Given the description of an element on the screen output the (x, y) to click on. 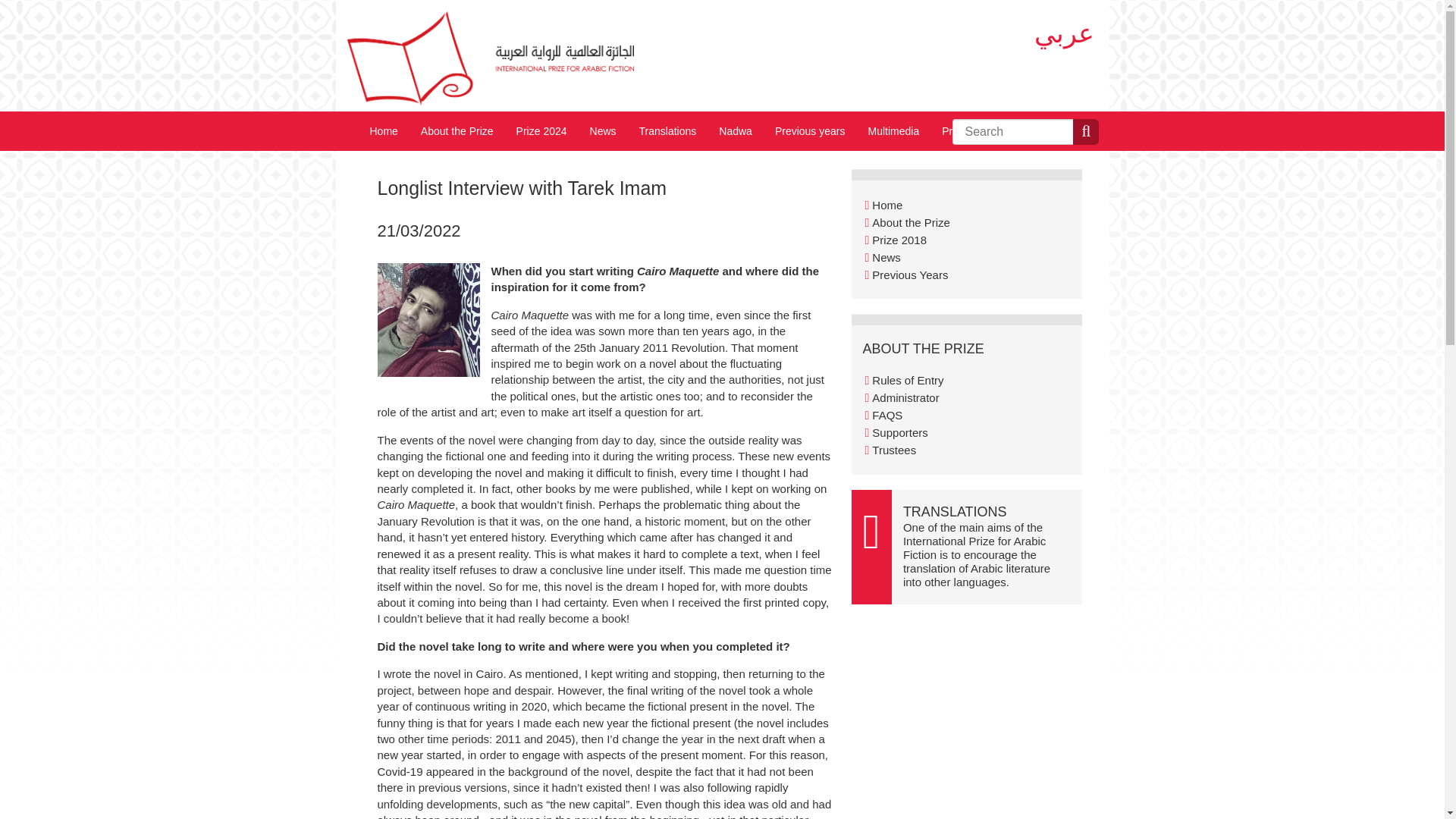
Previous Years (909, 274)
News (602, 130)
Previous years (809, 130)
Administrator (905, 397)
About the Prize (457, 130)
Search (977, 140)
Rules of Entry (907, 379)
Translation (975, 554)
Enter the terms you wish to search for. (1013, 131)
